Given the description of an element on the screen output the (x, y) to click on. 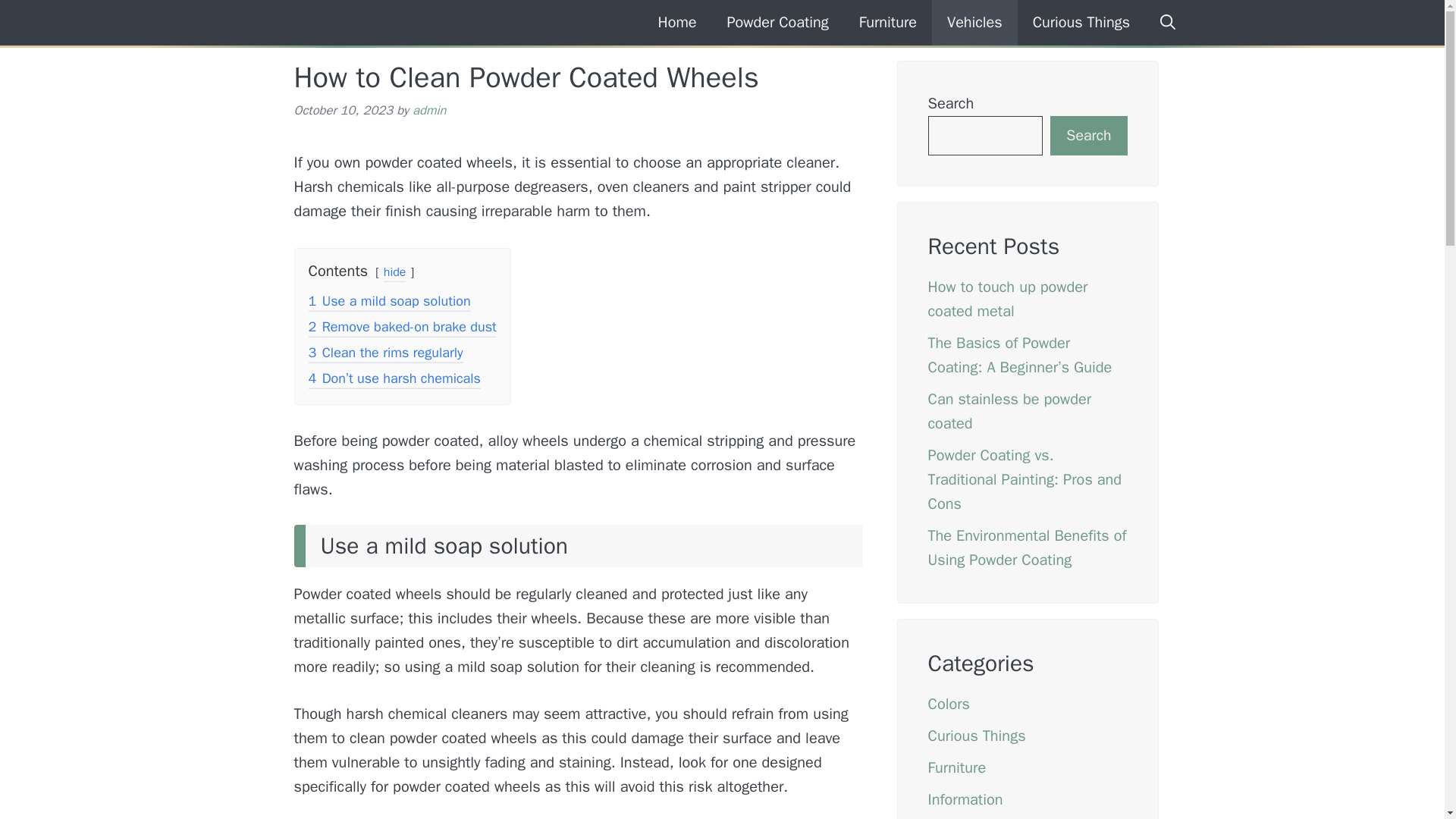
View all posts by admin (428, 109)
Powder Coating (777, 22)
Furniture (957, 767)
Powder Coating vs. Traditional Painting: Pros and Cons (1025, 479)
Vehicles (974, 22)
The Environmental Benefits of Using Powder Coating (1027, 547)
admin (428, 109)
Curious Things (1080, 22)
How to touch up powder coated metal (1007, 299)
1 Use a mild soap solution (388, 302)
Search (1087, 135)
Can stainless be powder coated (1010, 411)
Information (965, 799)
Powder Coating (340, 22)
3 Clean the rims regularly (385, 353)
